Given the description of an element on the screen output the (x, y) to click on. 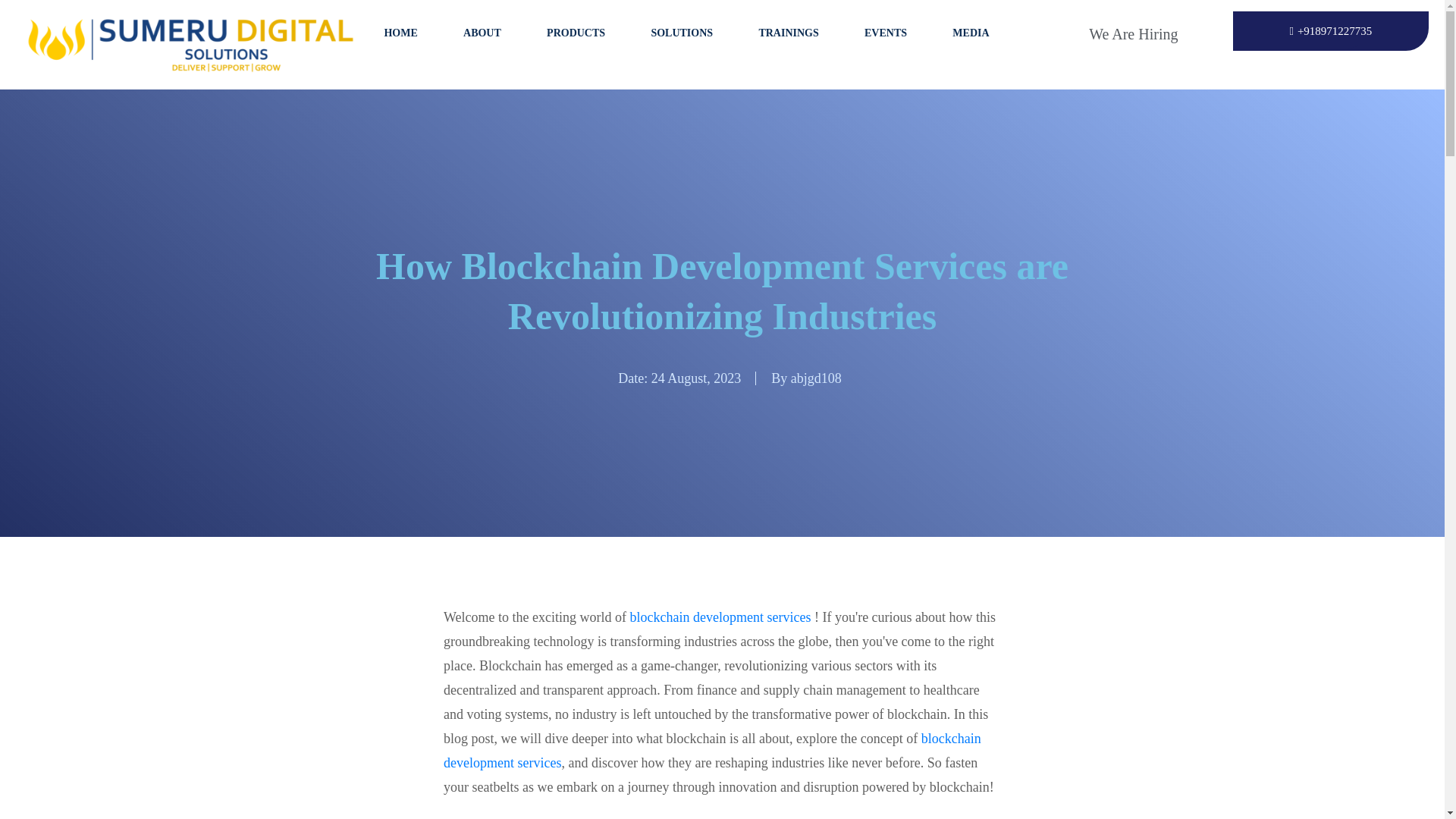
SOLUTIONS (681, 33)
TRAININGS (788, 33)
EVENTS (885, 33)
PRODUCTS (575, 33)
MEDIA (970, 33)
ABOUT (481, 33)
HOME (400, 33)
